Given the description of an element on the screen output the (x, y) to click on. 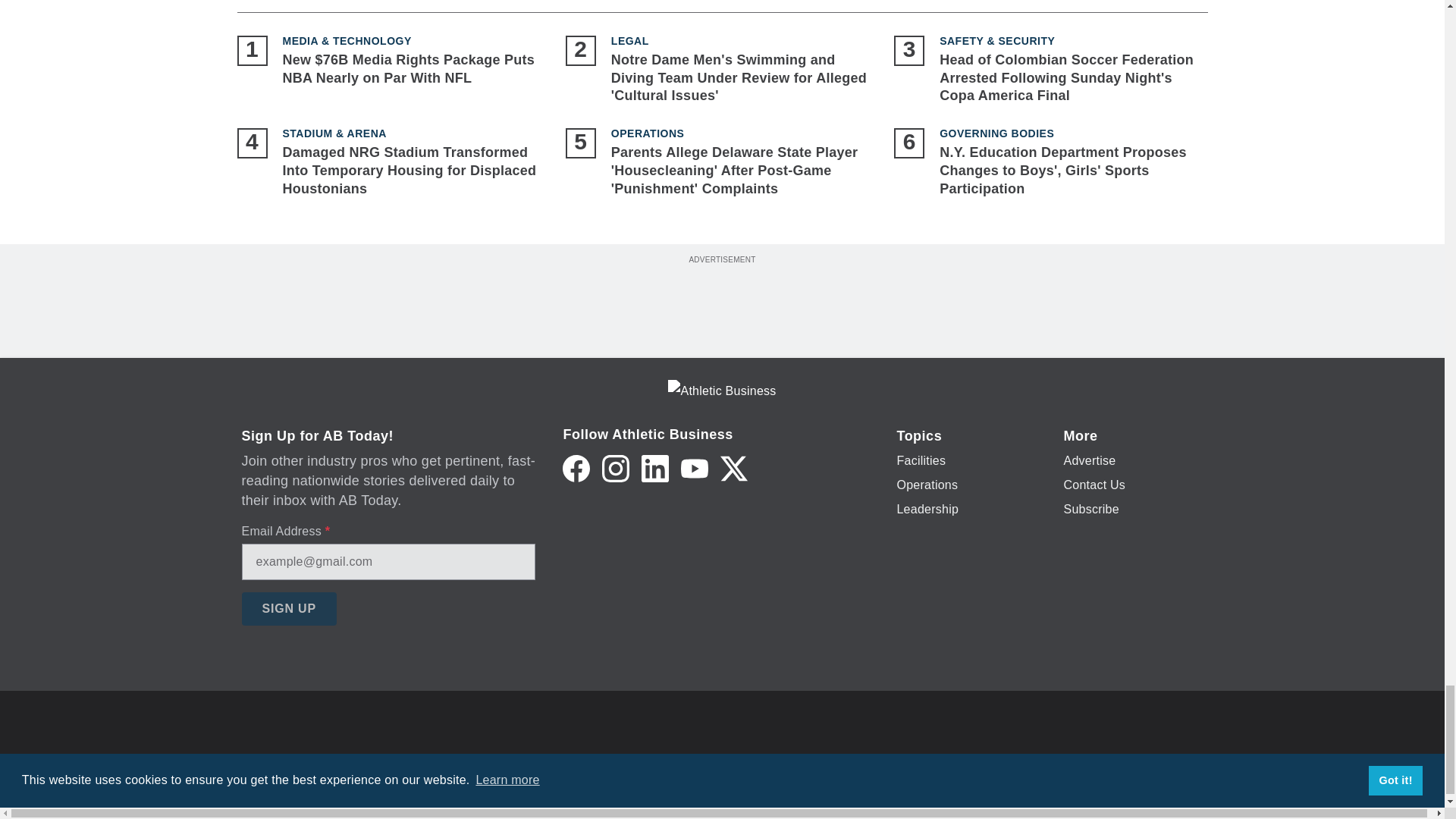
Instagram icon (615, 468)
Facebook icon (575, 468)
LinkedIn icon (655, 468)
